Given the description of an element on the screen output the (x, y) to click on. 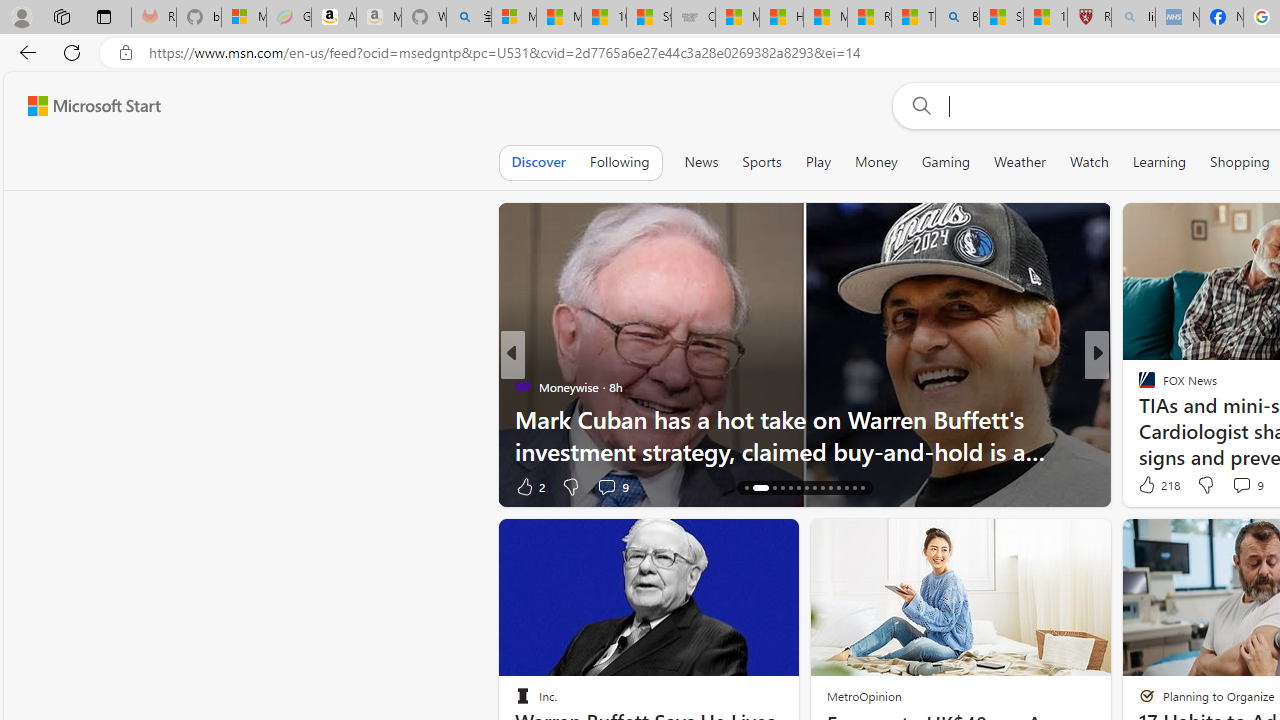
218 Like (1157, 484)
View comments 167 Comment (1247, 486)
AutomationID: tab-19 (789, 487)
View comments 34 Comment (1234, 485)
AutomationID: tab-26 (846, 487)
2 Like (528, 486)
AutomationID: tab-21 (806, 487)
